Given the description of an element on the screen output the (x, y) to click on. 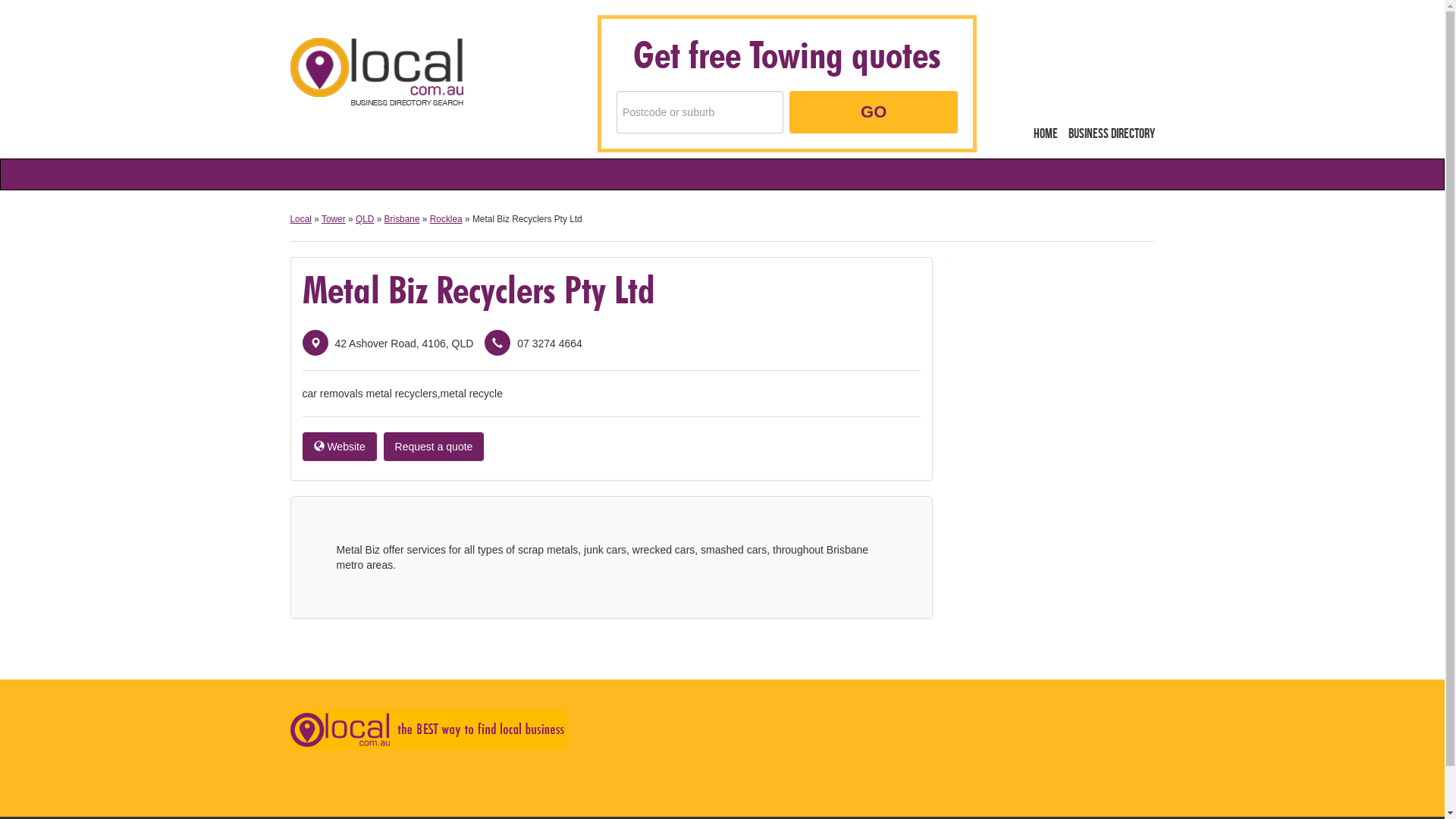
Brisbane Element type: text (402, 218)
Business Directory Element type: text (1110, 134)
GO Element type: text (873, 112)
Request a quote Element type: text (433, 446)
Local Element type: text (299, 218)
Local Element type: hover (375, 71)
QLD Element type: text (364, 218)
Home Element type: text (1045, 134)
Rocklea Element type: text (445, 218)
Website Element type: text (338, 446)
Tower Element type: text (333, 218)
